Given the description of an element on the screen output the (x, y) to click on. 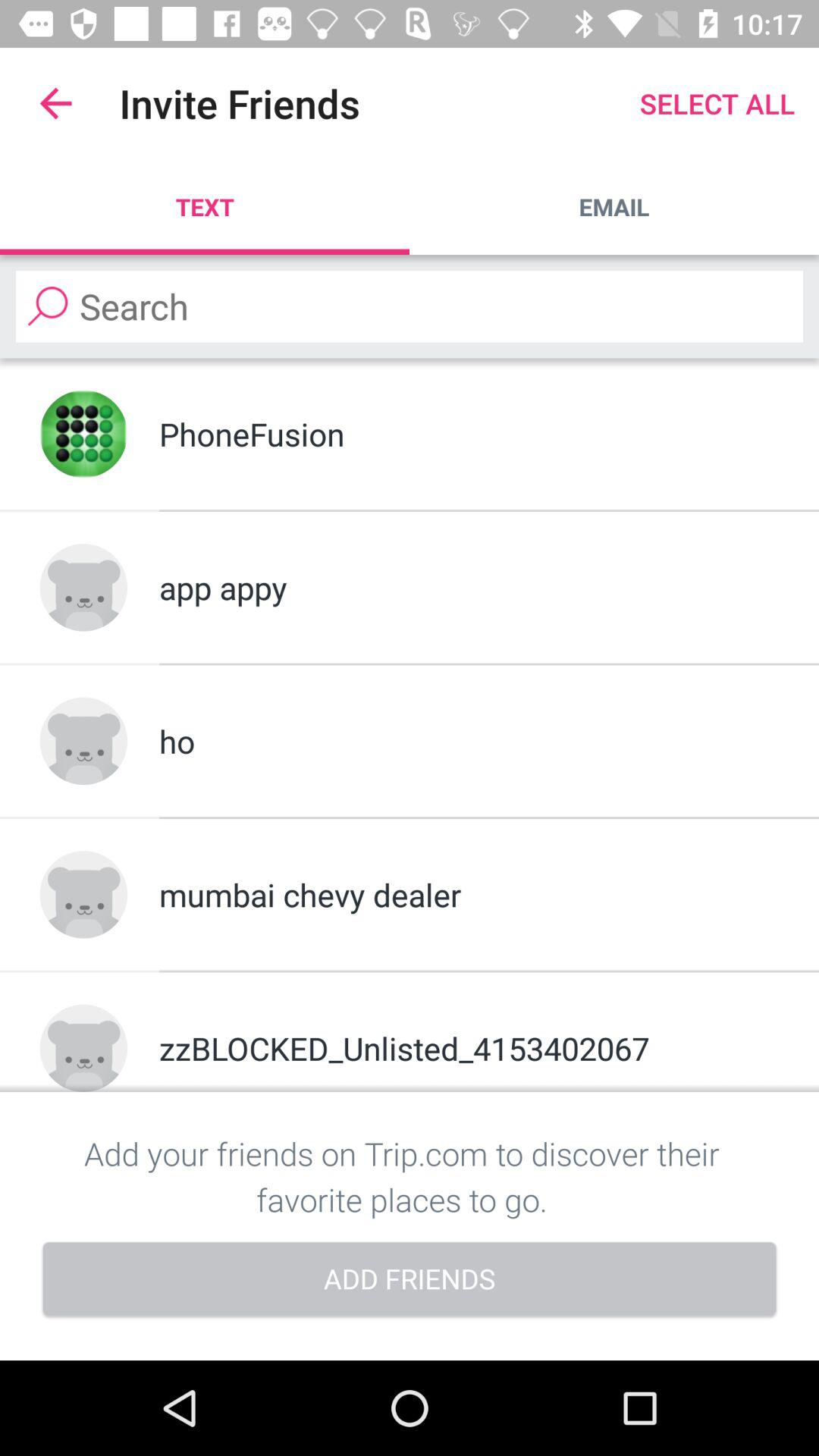
click app to the left of the invite friends item (55, 103)
